Given the description of an element on the screen output the (x, y) to click on. 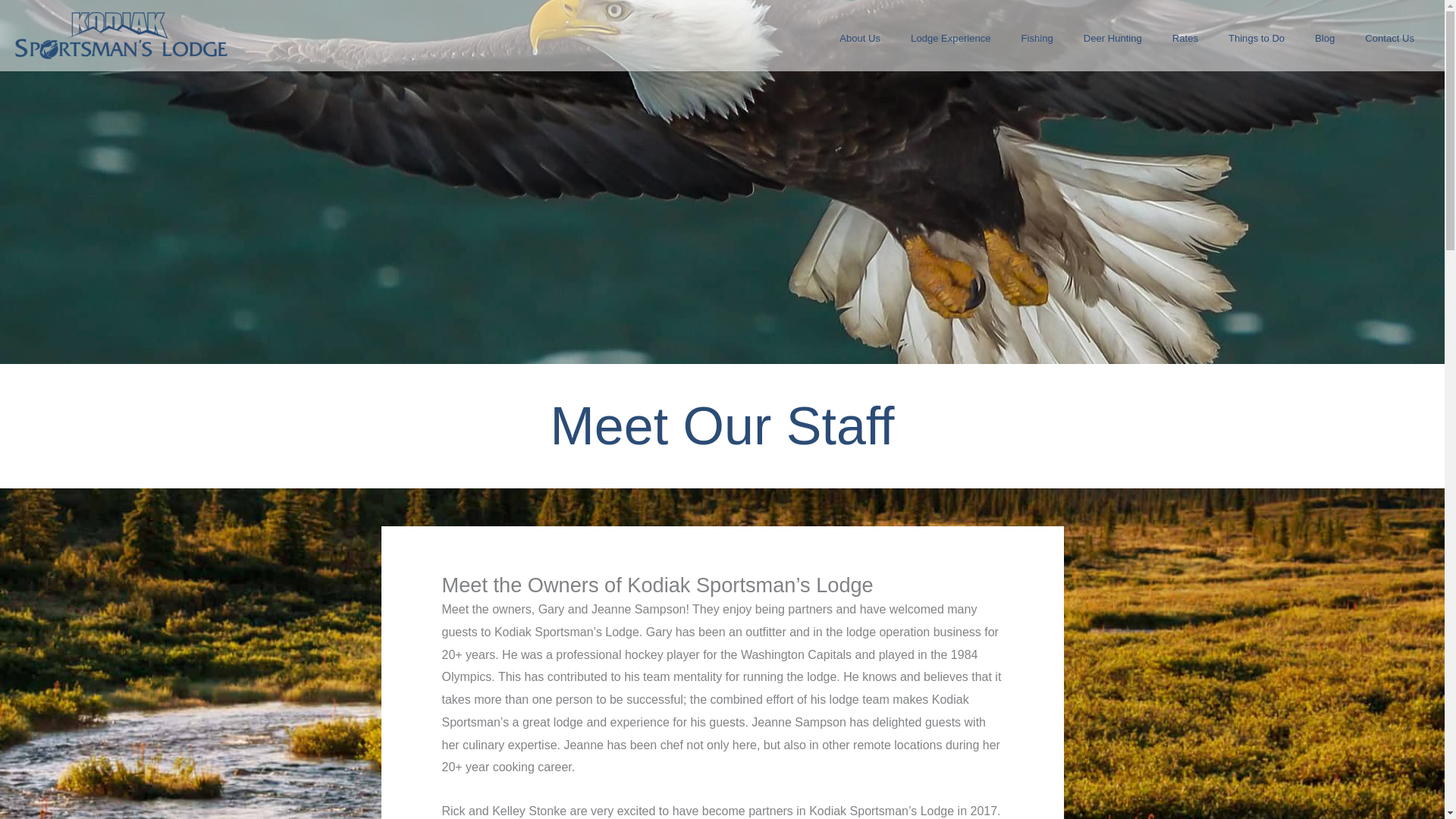
About Us (859, 38)
Blog (1324, 38)
Things to Do (1256, 38)
Fishing (1037, 38)
Deer Hunting (1112, 38)
Rates (1184, 38)
Lodge Experience (950, 38)
Contact Us (1389, 38)
